Given the description of an element on the screen output the (x, y) to click on. 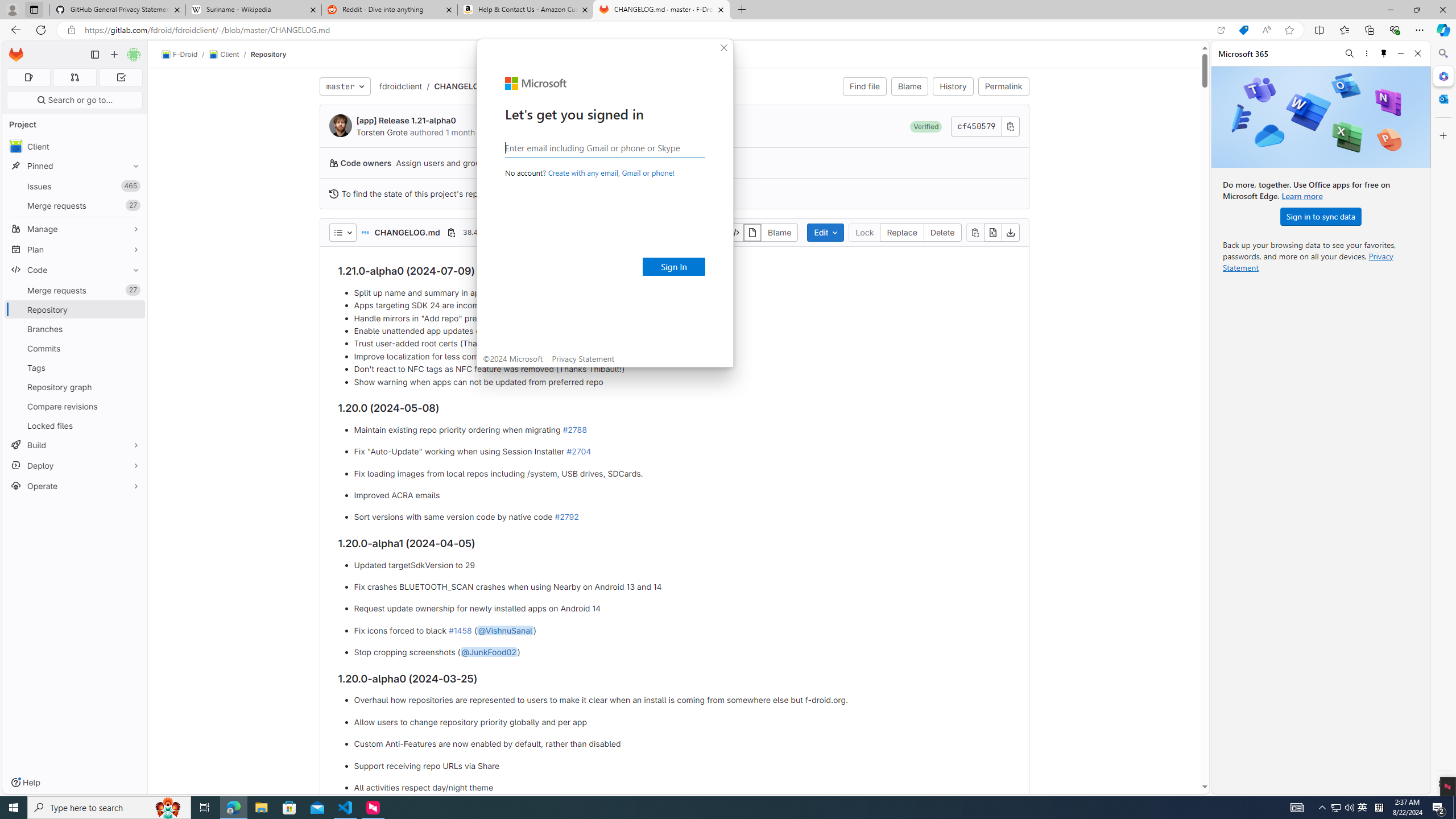
Torsten Grote's avatar (340, 125)
Deploy (74, 465)
AutomationID: dropdown-toggle-btn-50 (342, 232)
File Explorer (1362, 807)
Help & Contact Us - Amazon Customer Service (261, 807)
Unpin Merge requests (525, 9)
@VishnuSanal (132, 290)
Client/ (504, 629)
Show desktop (229, 54)
